Given the description of an element on the screen output the (x, y) to click on. 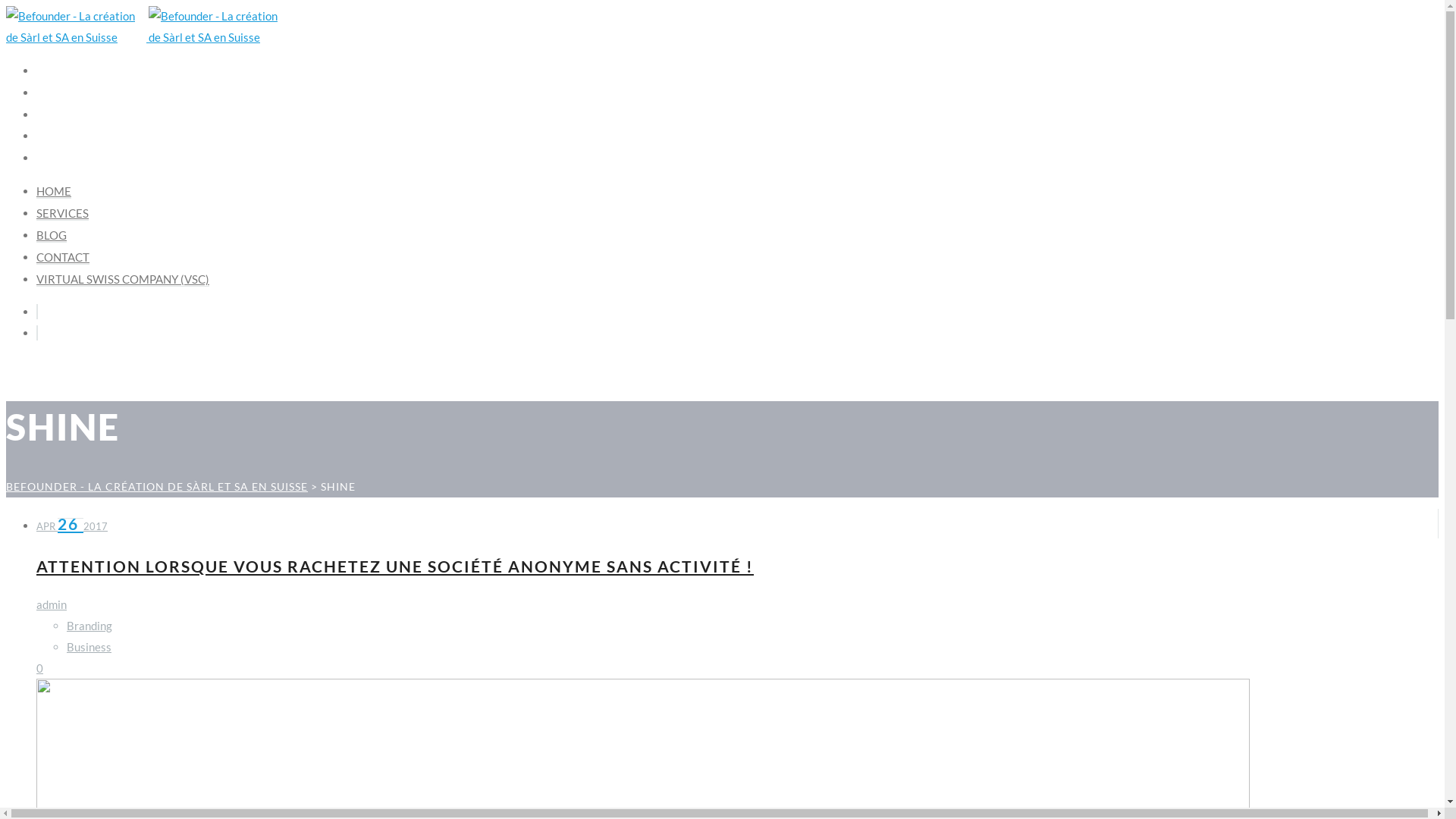
BLOG Element type: text (51, 235)
CONTACT Element type: text (62, 257)
0 Element type: text (39, 667)
BLOG Element type: text (52, 114)
26 Element type: text (70, 523)
APR Element type: text (46, 526)
CONTACT Element type: text (65, 135)
VIRTUAL SWISS COMPANY (VSC) Element type: text (122, 279)
SERVICES Element type: text (65, 92)
HOME Element type: text (55, 70)
Branding Element type: text (89, 625)
HOME Element type: text (53, 191)
Business Element type: text (88, 646)
SERVICES Element type: text (62, 213)
admin Element type: text (51, 604)
VIRTUAL SWISS COMPANY (VSC) Element type: text (132, 157)
2017 Element type: text (95, 526)
